Given the description of an element on the screen output the (x, y) to click on. 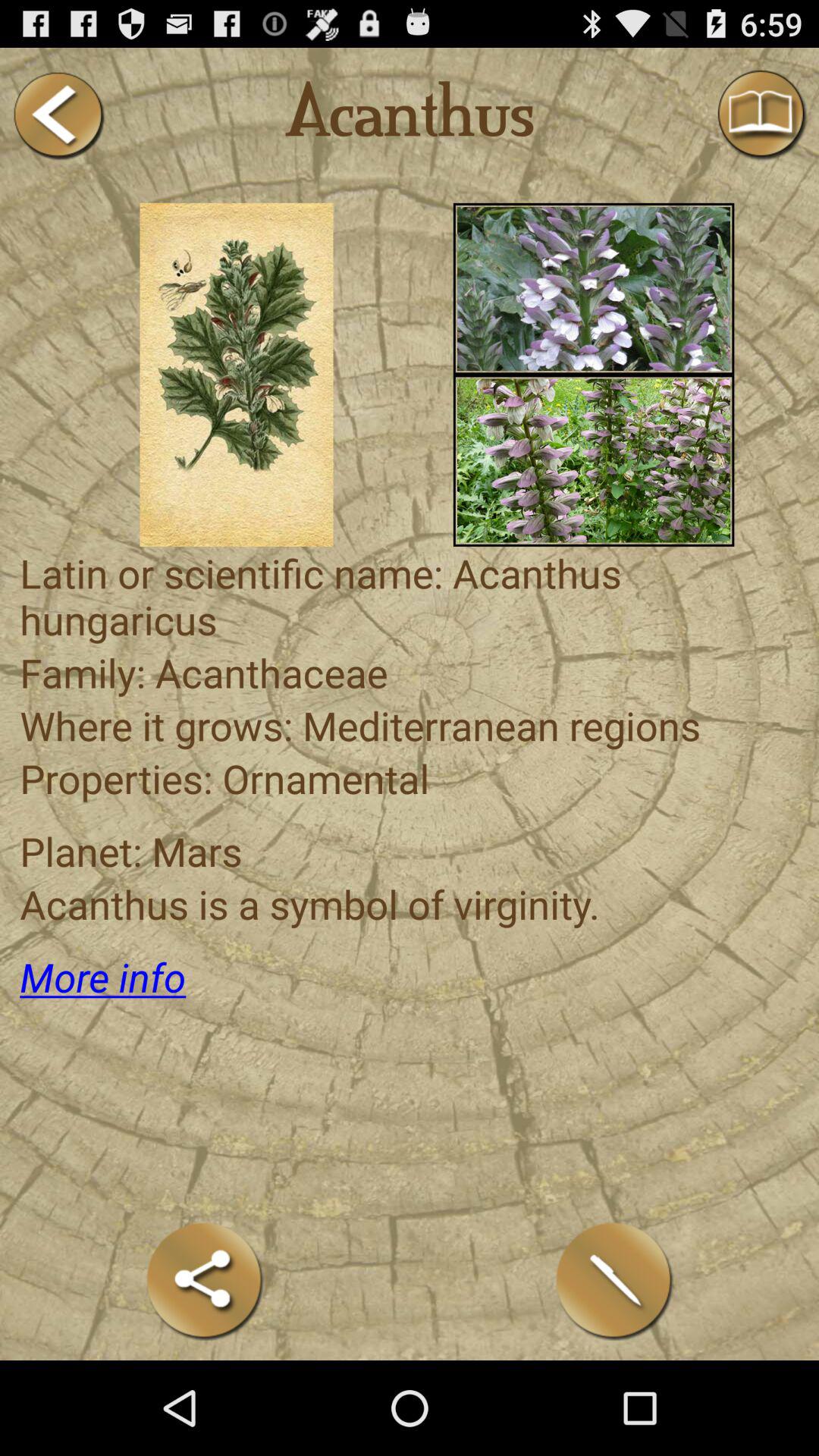
share the article (204, 1280)
